Given the description of an element on the screen output the (x, y) to click on. 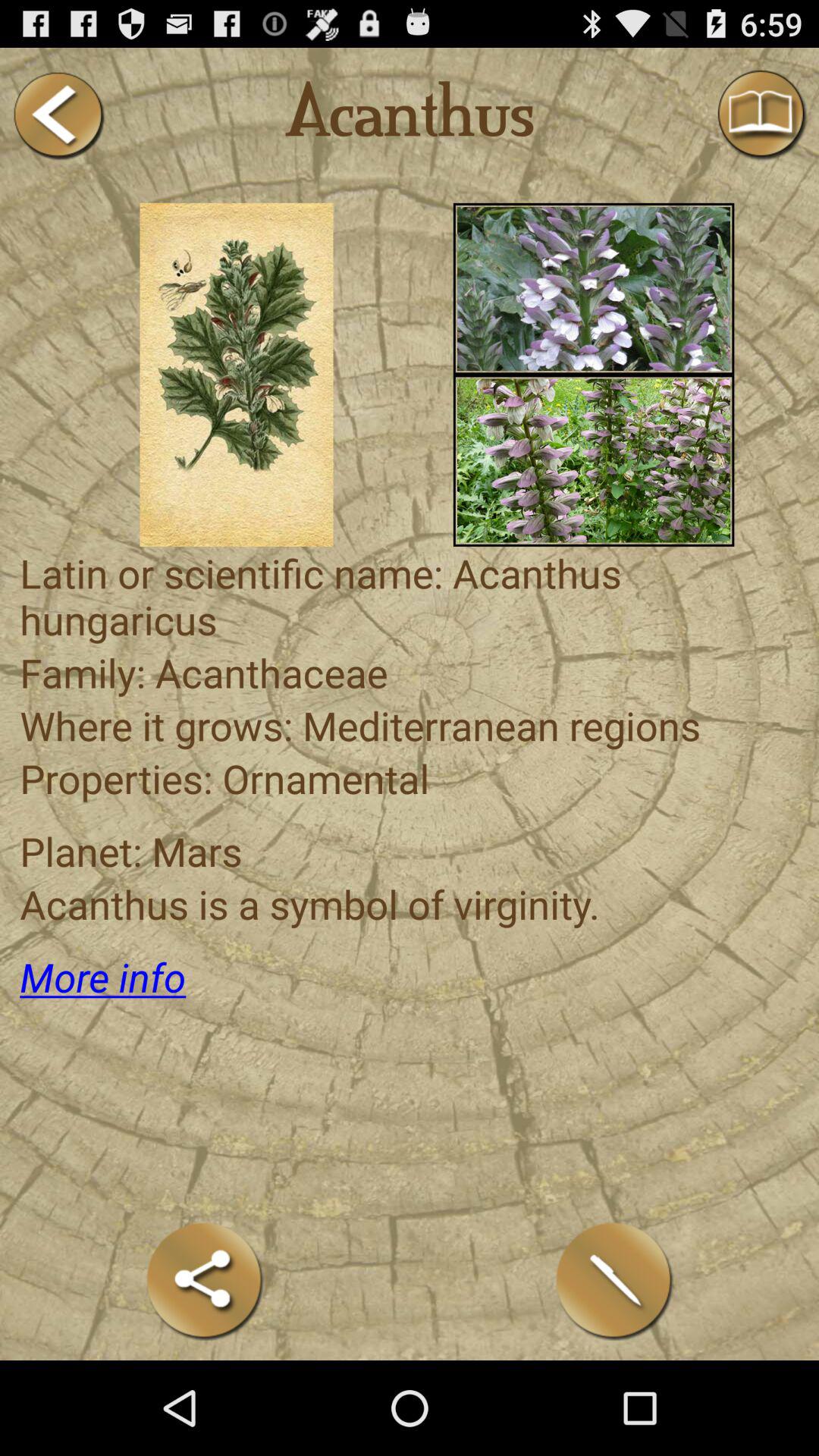
share the article (204, 1280)
